Given the description of an element on the screen output the (x, y) to click on. 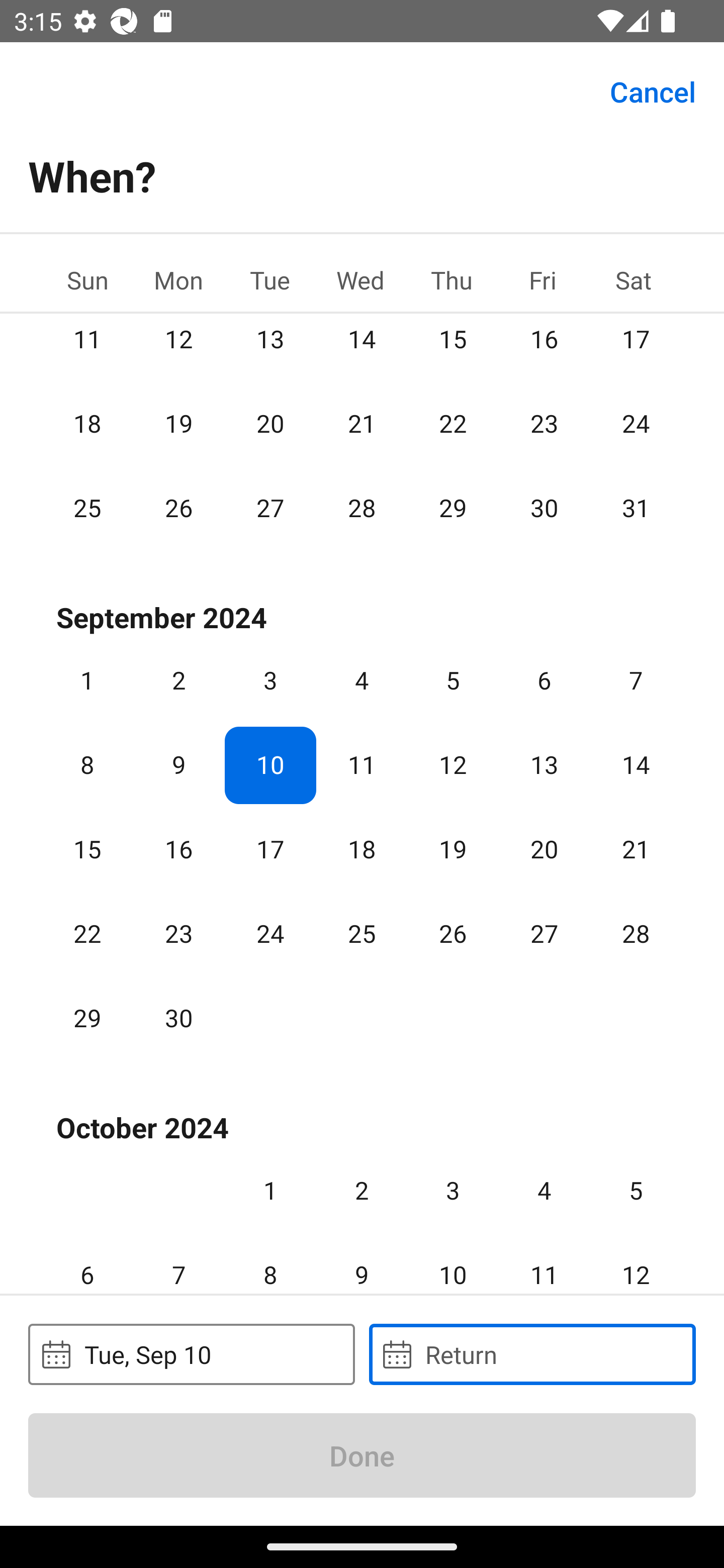
Cancel (652, 90)
Tue, Sep 10 (191, 1353)
Return (532, 1353)
Done (361, 1454)
